Given the description of an element on the screen output the (x, y) to click on. 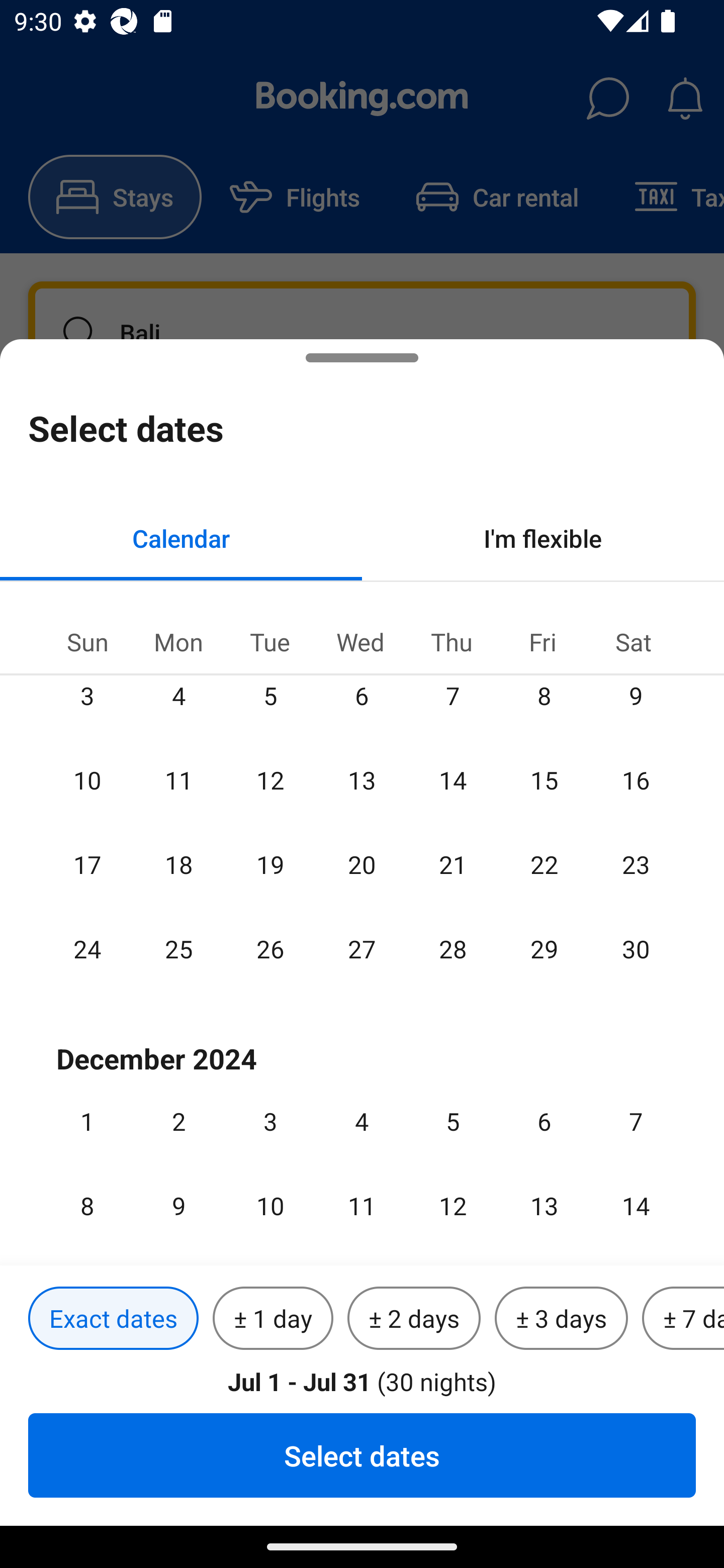
I'm flexible (543, 537)
Exact dates (113, 1318)
± 1 day (272, 1318)
± 2 days (413, 1318)
± 3 days (560, 1318)
± 7 days (683, 1318)
Select dates (361, 1454)
